Given the description of an element on the screen output the (x, y) to click on. 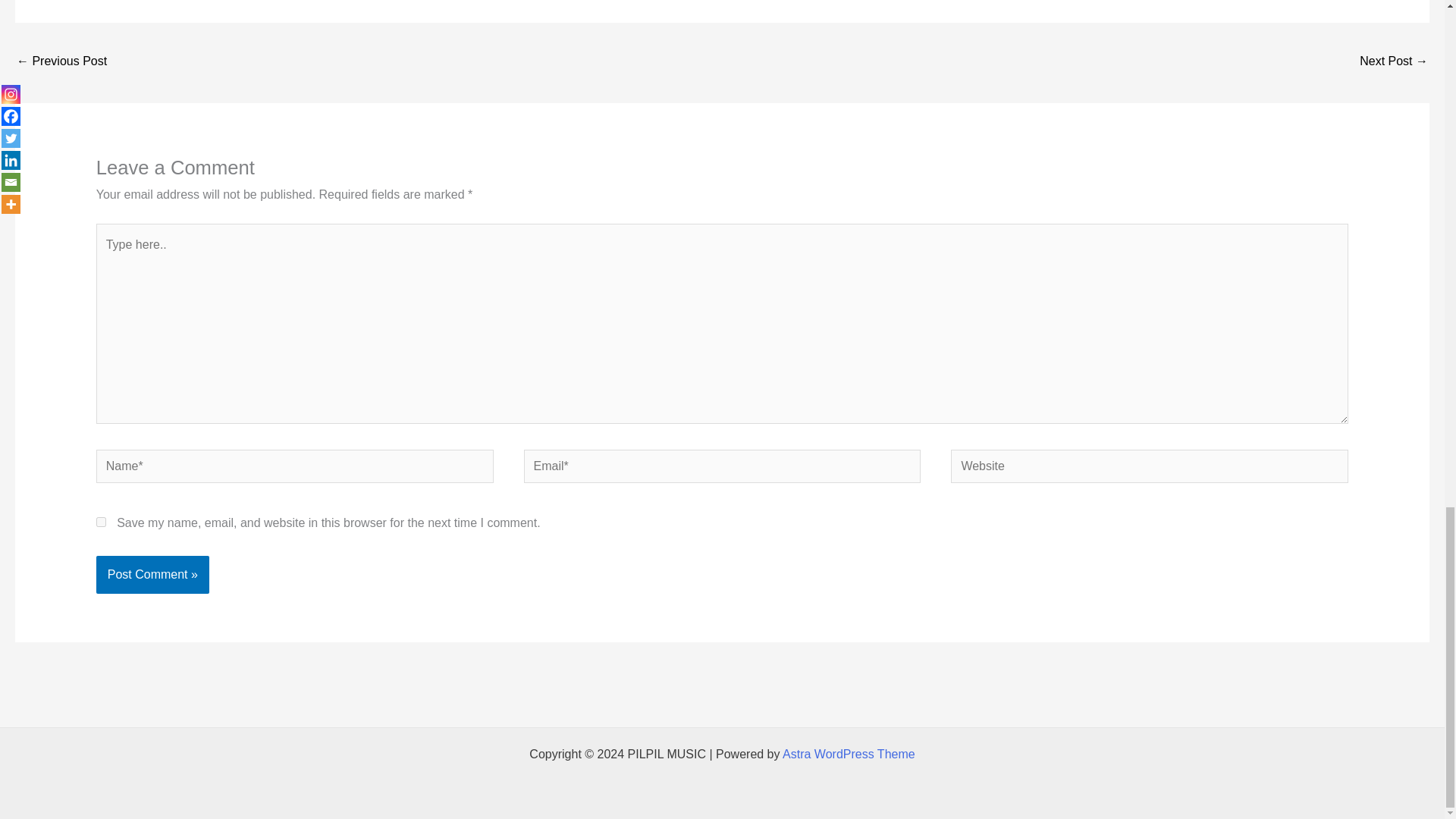
yes (101, 521)
